Given the description of an element on the screen output the (x, y) to click on. 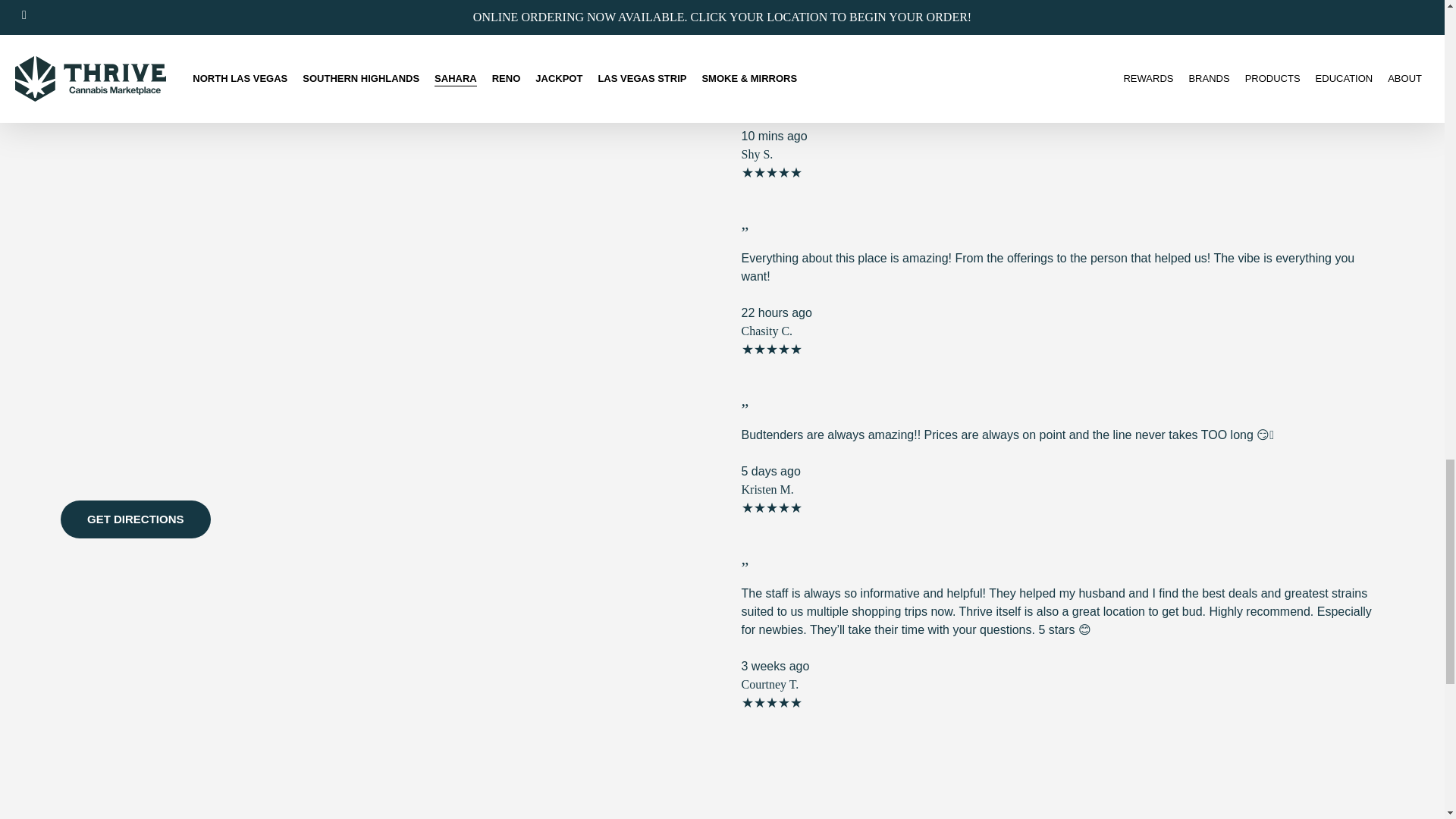
GET DIRECTIONS (136, 519)
